Given the description of an element on the screen output the (x, y) to click on. 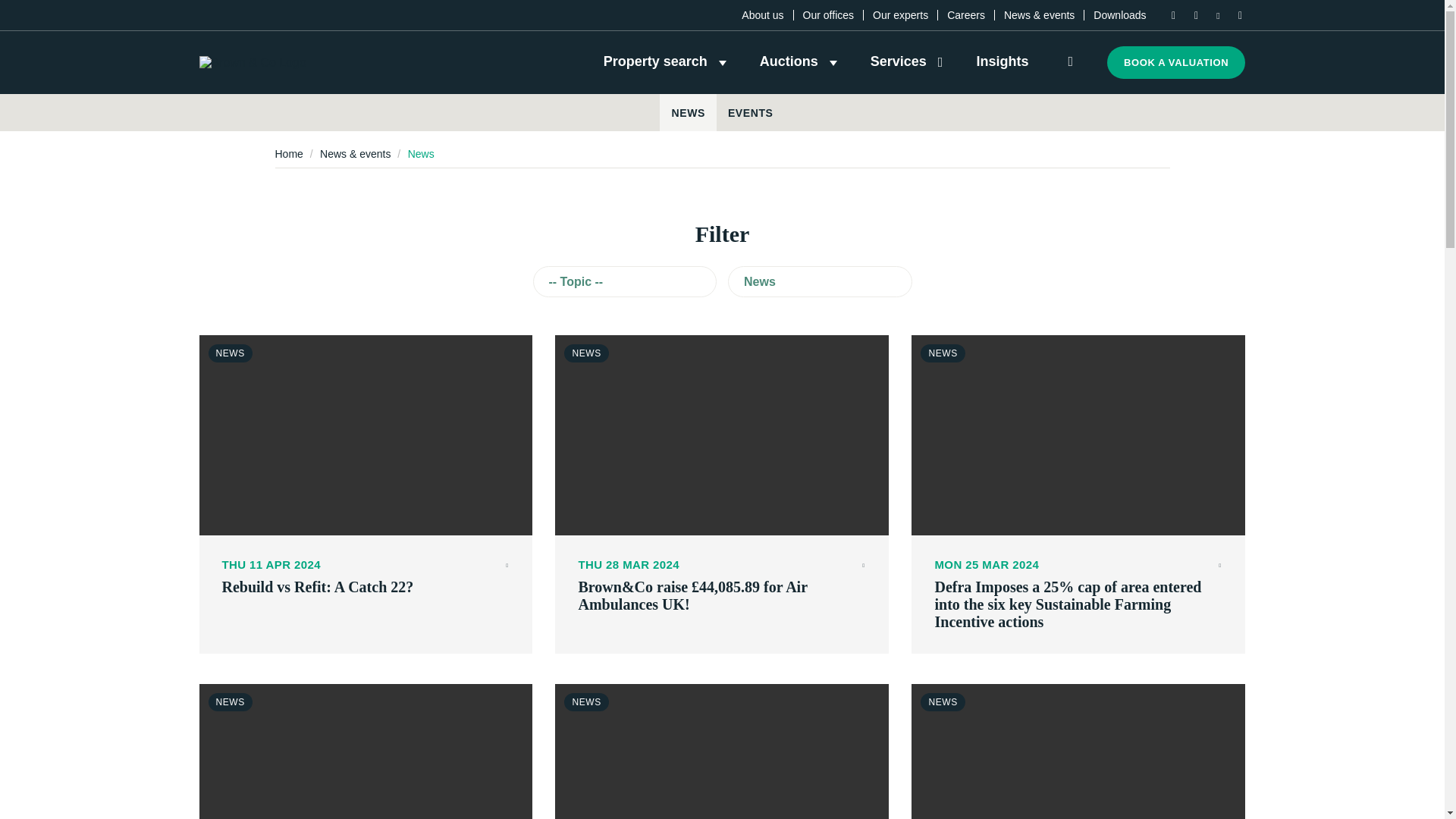
Our offices (828, 15)
BOOK A VALUATION (1175, 61)
Services (906, 61)
Auctions (798, 61)
About us (762, 15)
Auctions (798, 61)
Downloads (1119, 15)
Property search (665, 61)
Careers (966, 15)
Services (906, 61)
